Given the description of an element on the screen output the (x, y) to click on. 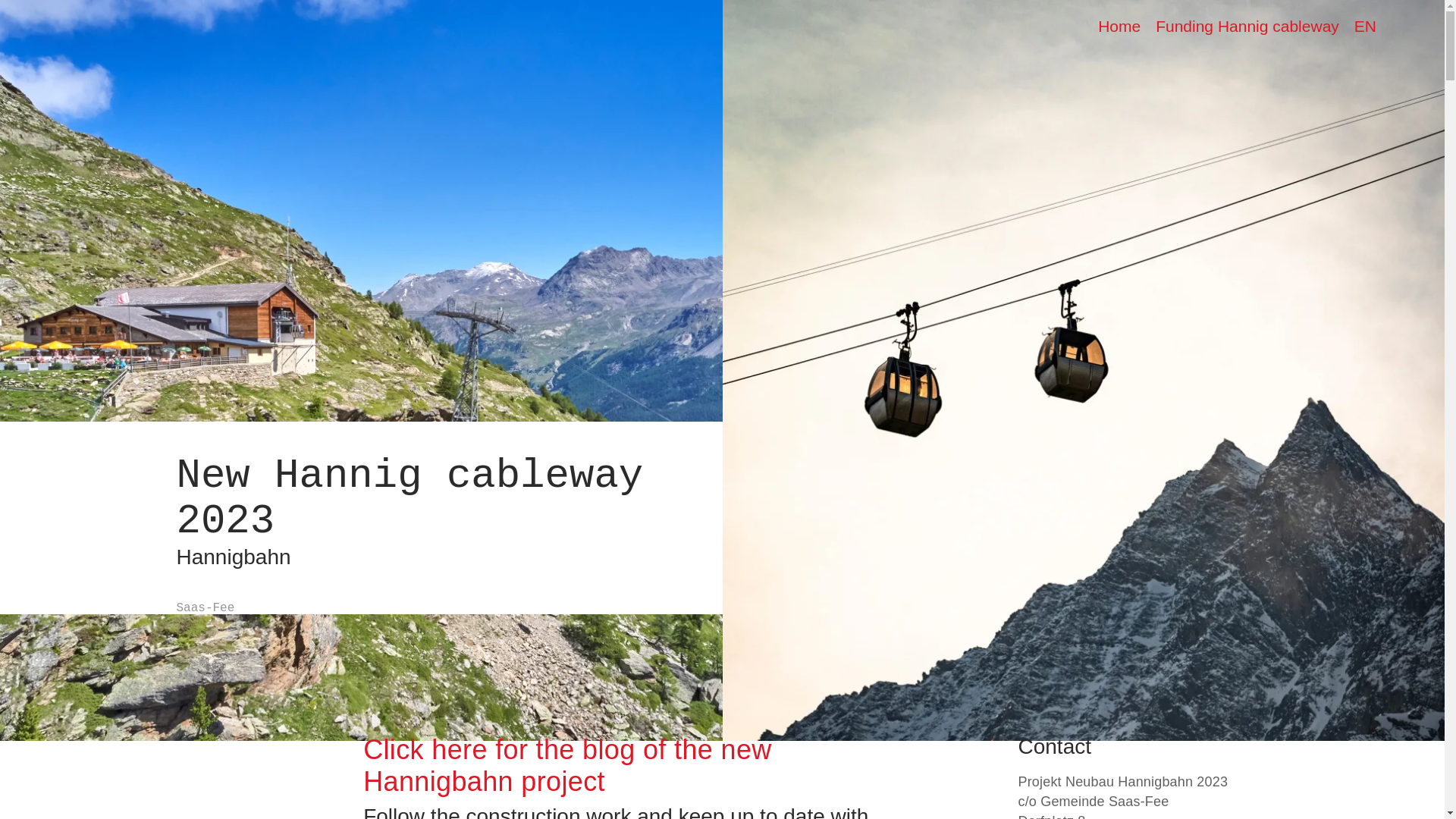
Click here for the blog of the new Hannigbahn project (566, 764)
Funding Hannig cableway (1247, 26)
Funding Hannig cableway (1247, 26)
EN (1365, 26)
Home (1119, 26)
Home (1119, 26)
